Given the description of an element on the screen output the (x, y) to click on. 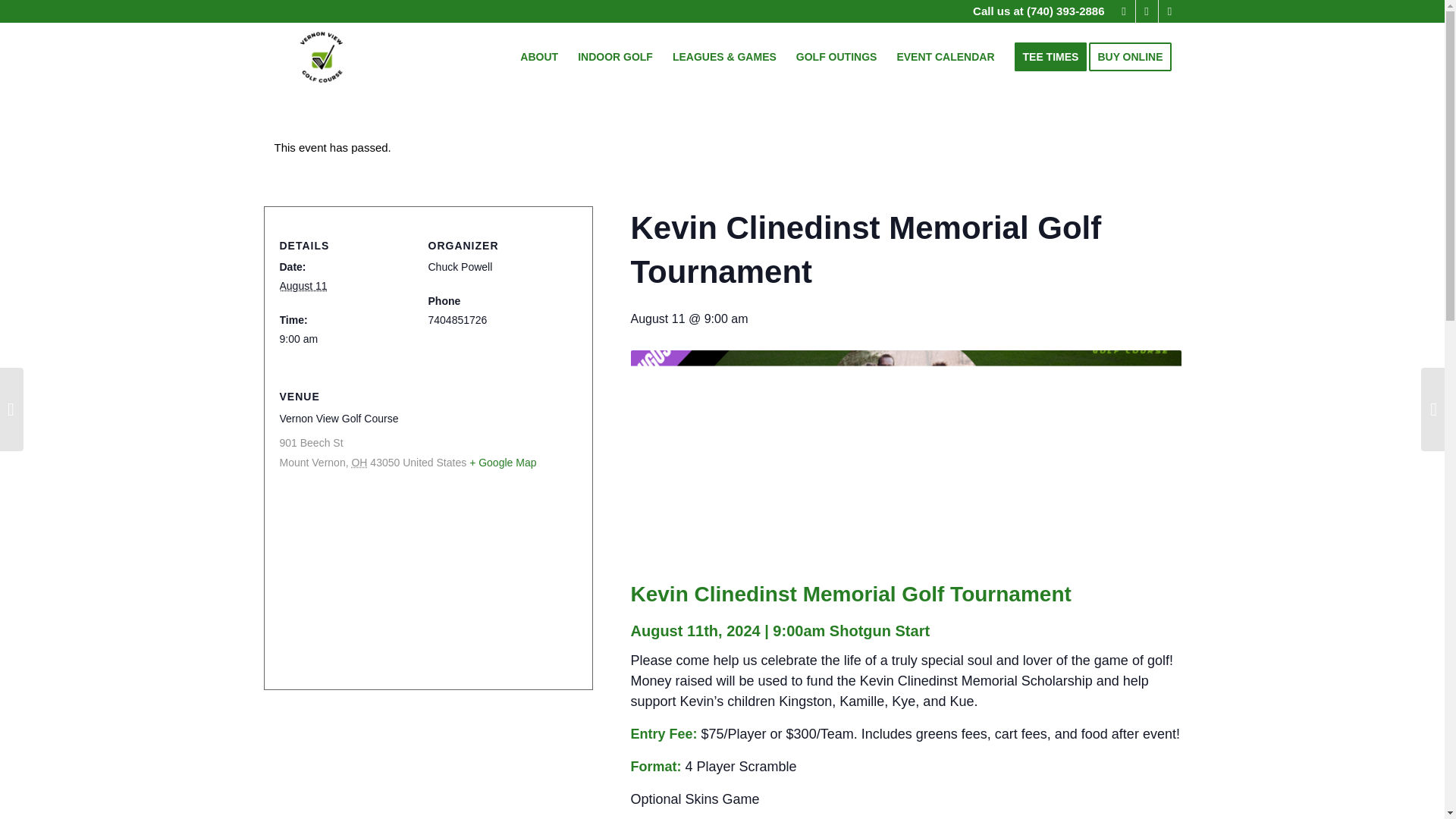
GOLF OUTINGS (836, 56)
Ohio (358, 462)
2024-08-11 (302, 285)
Instagram (1169, 11)
Facebook (1124, 11)
Mail (1146, 11)
BUY ONLINE (1134, 56)
TEE TIMES (1050, 56)
Untitled design-8 copy (321, 56)
EVENT CALENDAR (945, 56)
